Given the description of an element on the screen output the (x, y) to click on. 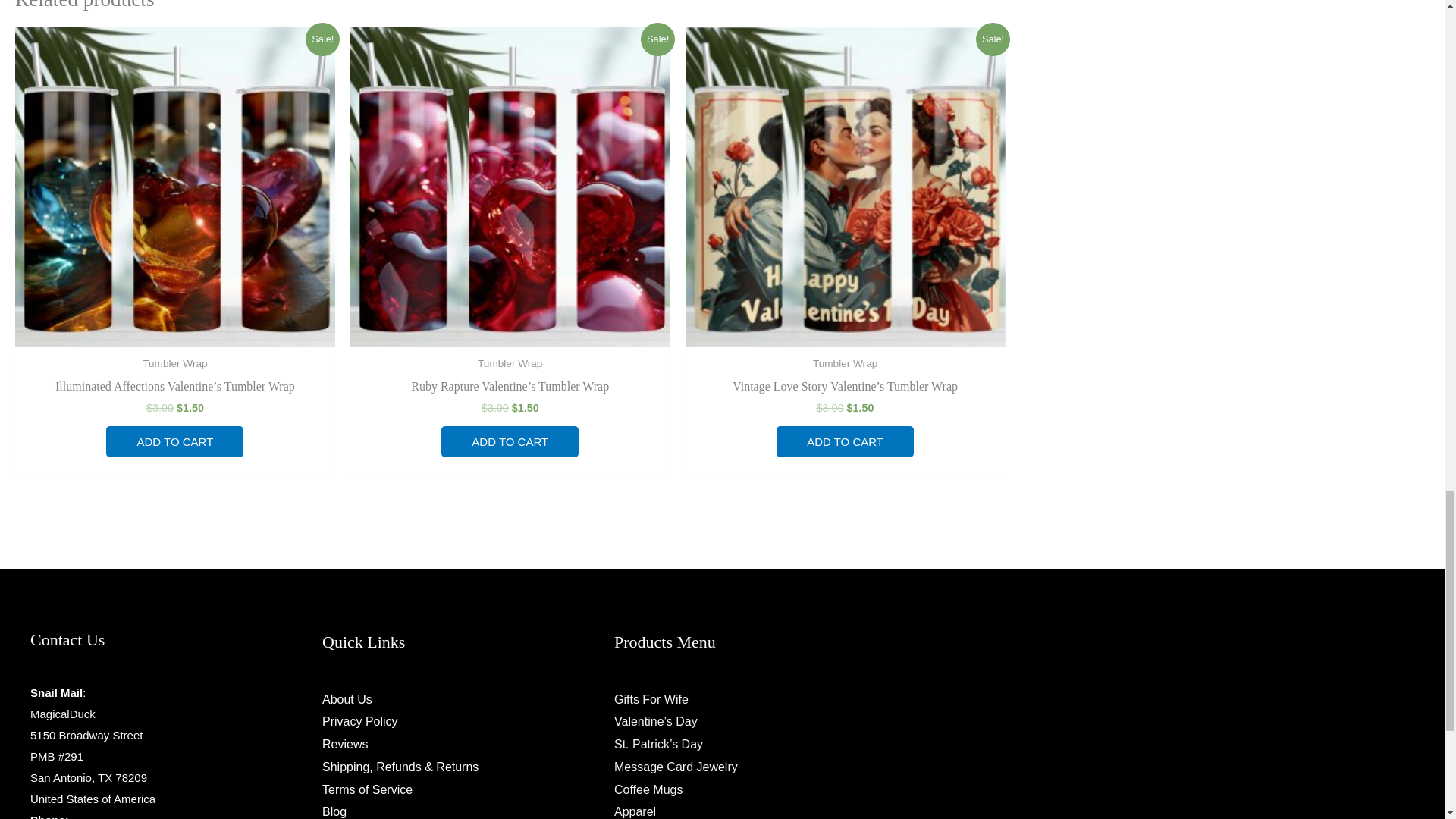
ADD TO CART (509, 441)
ADD TO CART (174, 441)
ADD TO CART (845, 441)
